Given the description of an element on the screen output the (x, y) to click on. 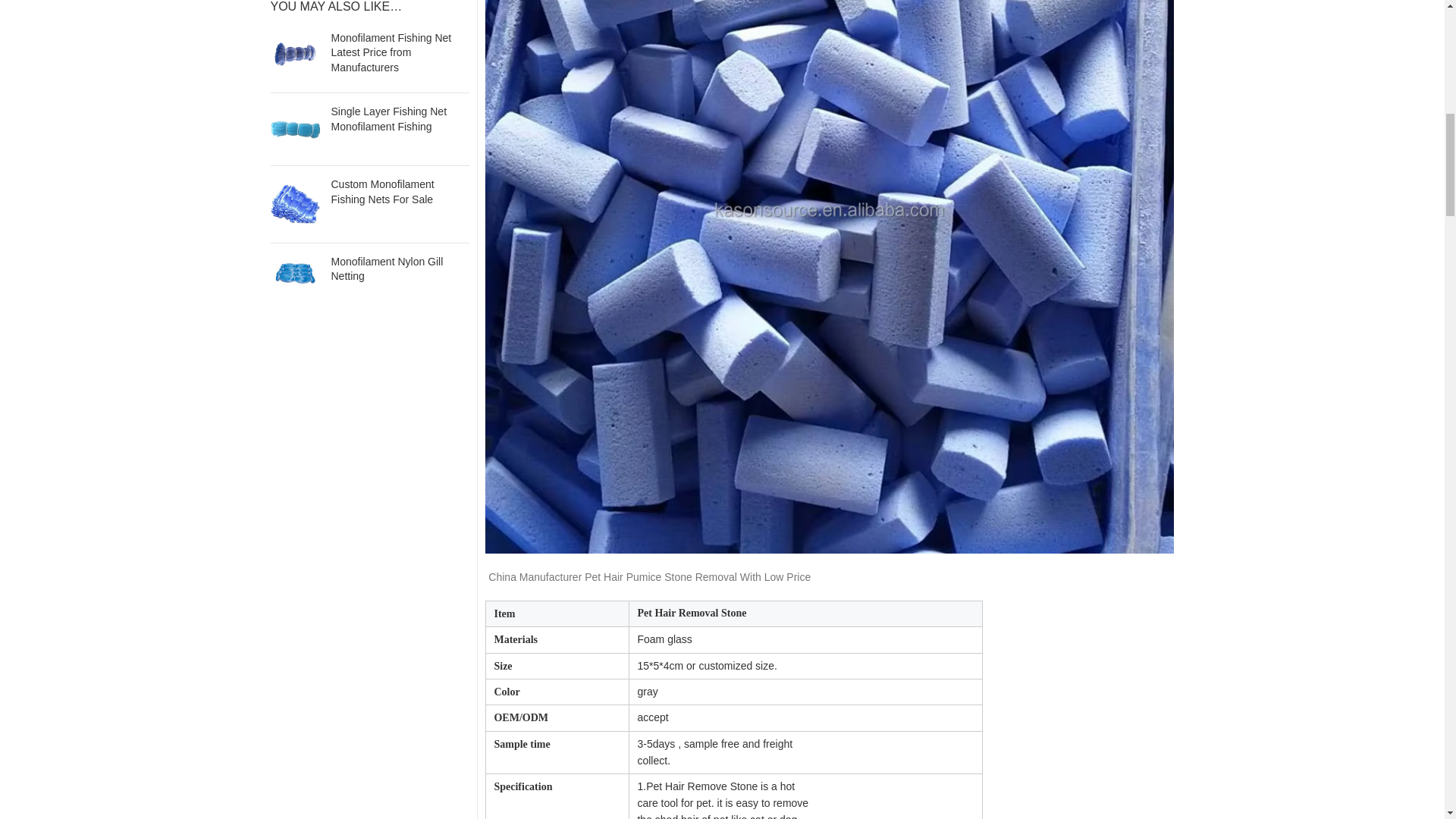
Custom Monofilament Fishing Nets For Sale (399, 192)
Single Layer Fishing Net Monofilament Fishing (293, 128)
Monofilament Fishing Net Latest Price from Manufacturers (399, 53)
Custom Monofilament Fishing Nets For Sale (293, 203)
Monofilament Nylon Gill Netting (399, 269)
Monofilament Nylon Gill Netting (293, 272)
Monofilament Fishing Net Latest Price from Manufacturers (293, 56)
Single Layer Fishing Net Monofilament Fishing (399, 119)
